Given the description of an element on the screen output the (x, y) to click on. 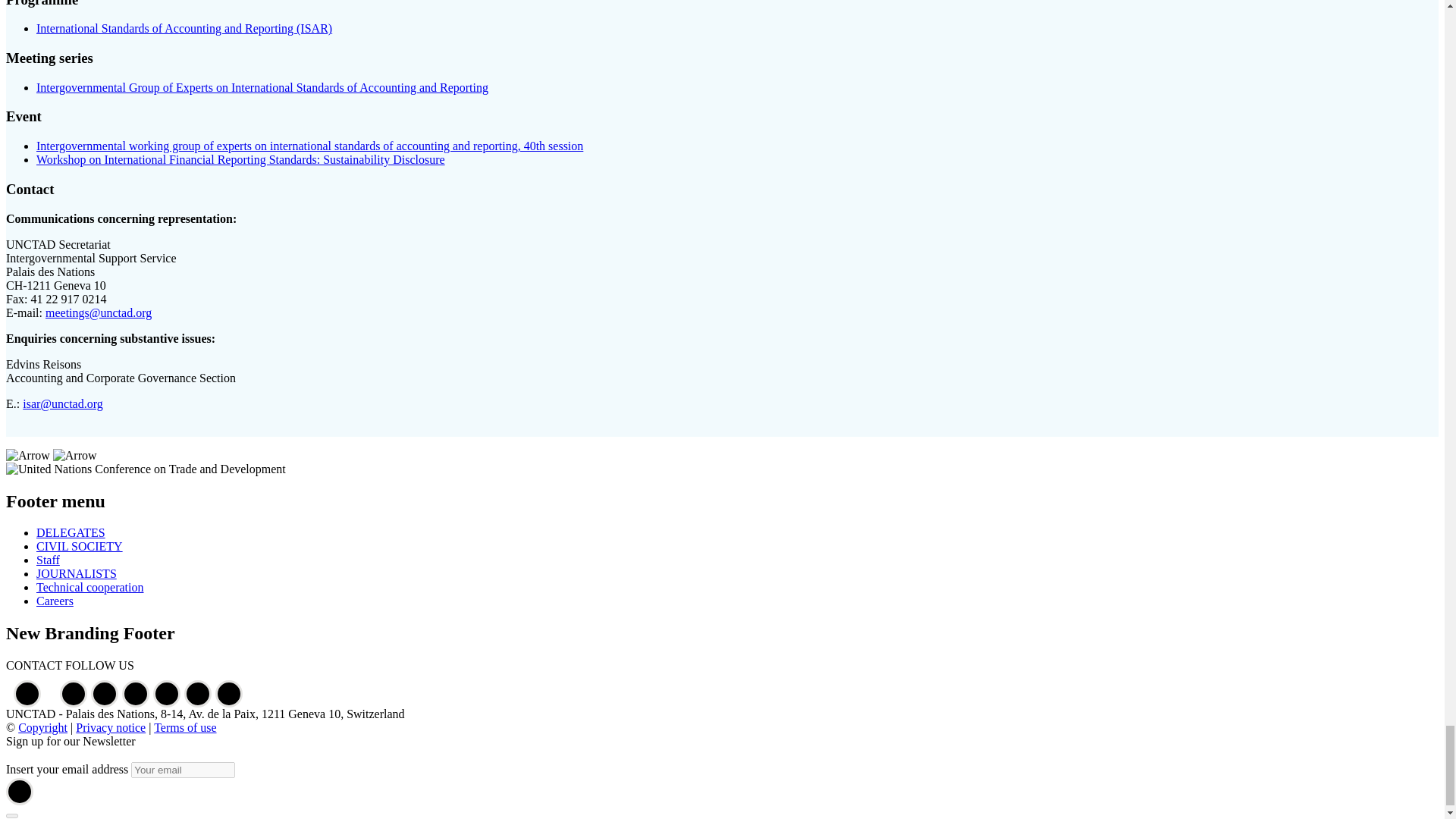
Enter your email address (182, 770)
